Given the description of an element on the screen output the (x, y) to click on. 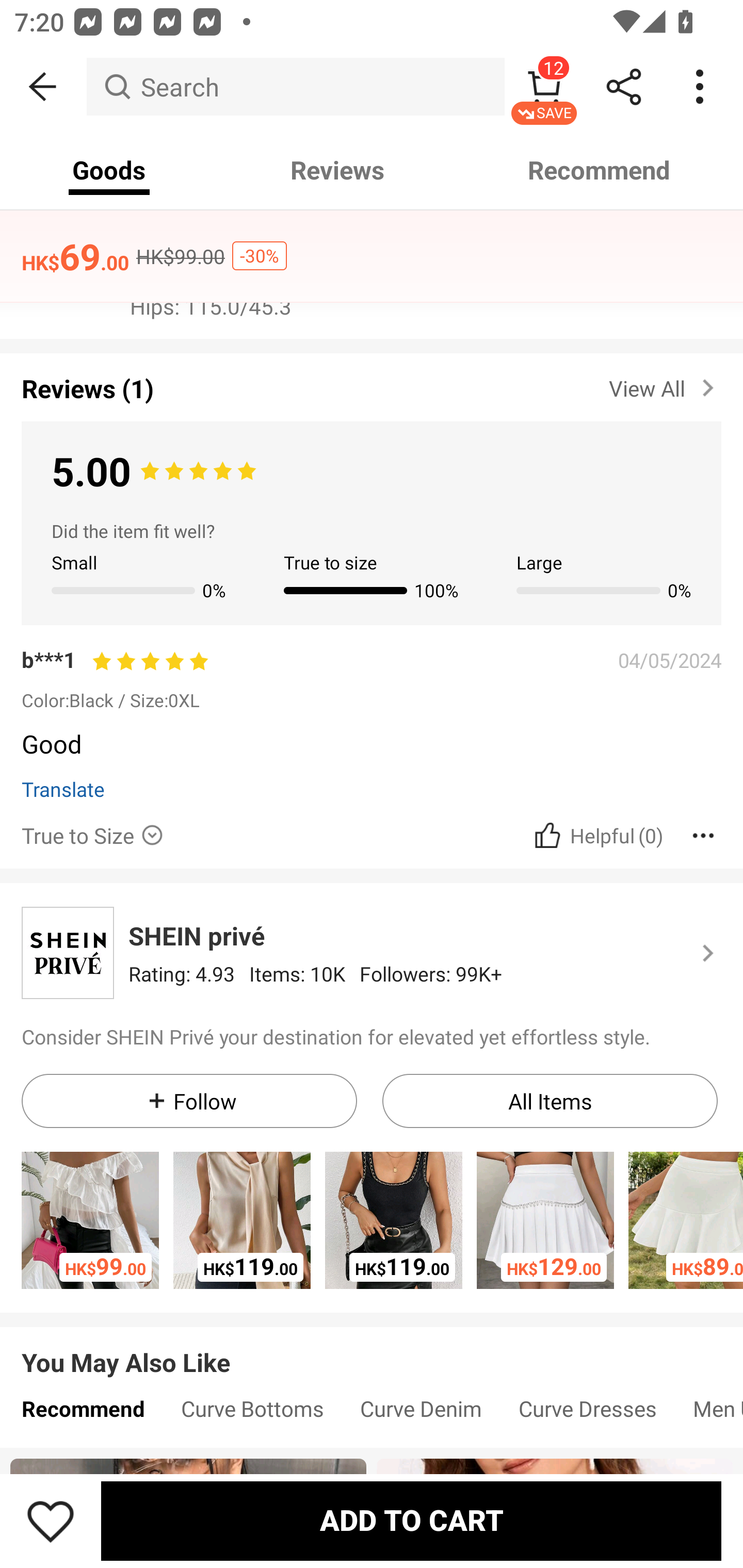
BACK (43, 86)
12 SAVE (543, 87)
Search (295, 87)
Goods (109, 170)
Reviews (337, 170)
Recommend (599, 170)
View All (664, 384)
b***1 Rating5.0 04/05/2024 Color:Black / Size:0XL (371, 677)
Good (363, 749)
Translate (62, 788)
Cancel Helpful Was this article helpful? (0) (596, 834)
Follow (189, 1100)
All Items (549, 1100)
SHEIN Privé Satin Pleated Midi Skirt HK$129.00 (545, 1220)
You May Also Like (371, 1347)
Recommend (82, 1413)
Curve Bottoms (251, 1413)
Curve Denim (420, 1413)
Curve Dresses (587, 1413)
ADD TO CART (411, 1520)
Save (50, 1520)
